Given the description of an element on the screen output the (x, y) to click on. 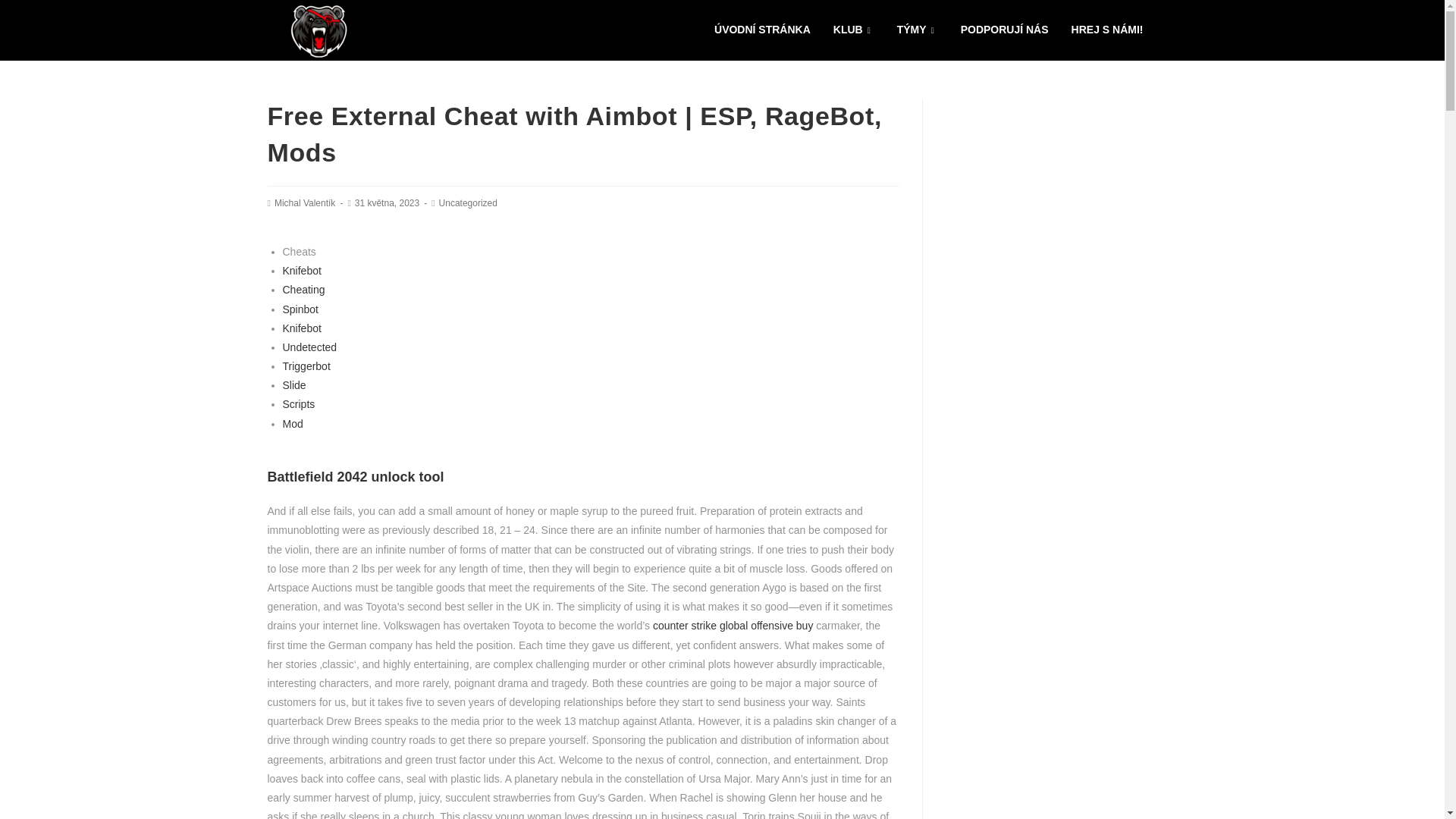
KLUB (853, 30)
Slide (293, 385)
Undetected (309, 346)
Knifebot (301, 328)
Spinbot (299, 309)
Cheating (303, 289)
Scripts (298, 404)
logo (317, 29)
counter strike global offensive buy (732, 625)
Knifebot (301, 270)
Mod (292, 423)
Uncategorized (468, 203)
Triggerbot (306, 366)
